Given the description of an element on the screen output the (x, y) to click on. 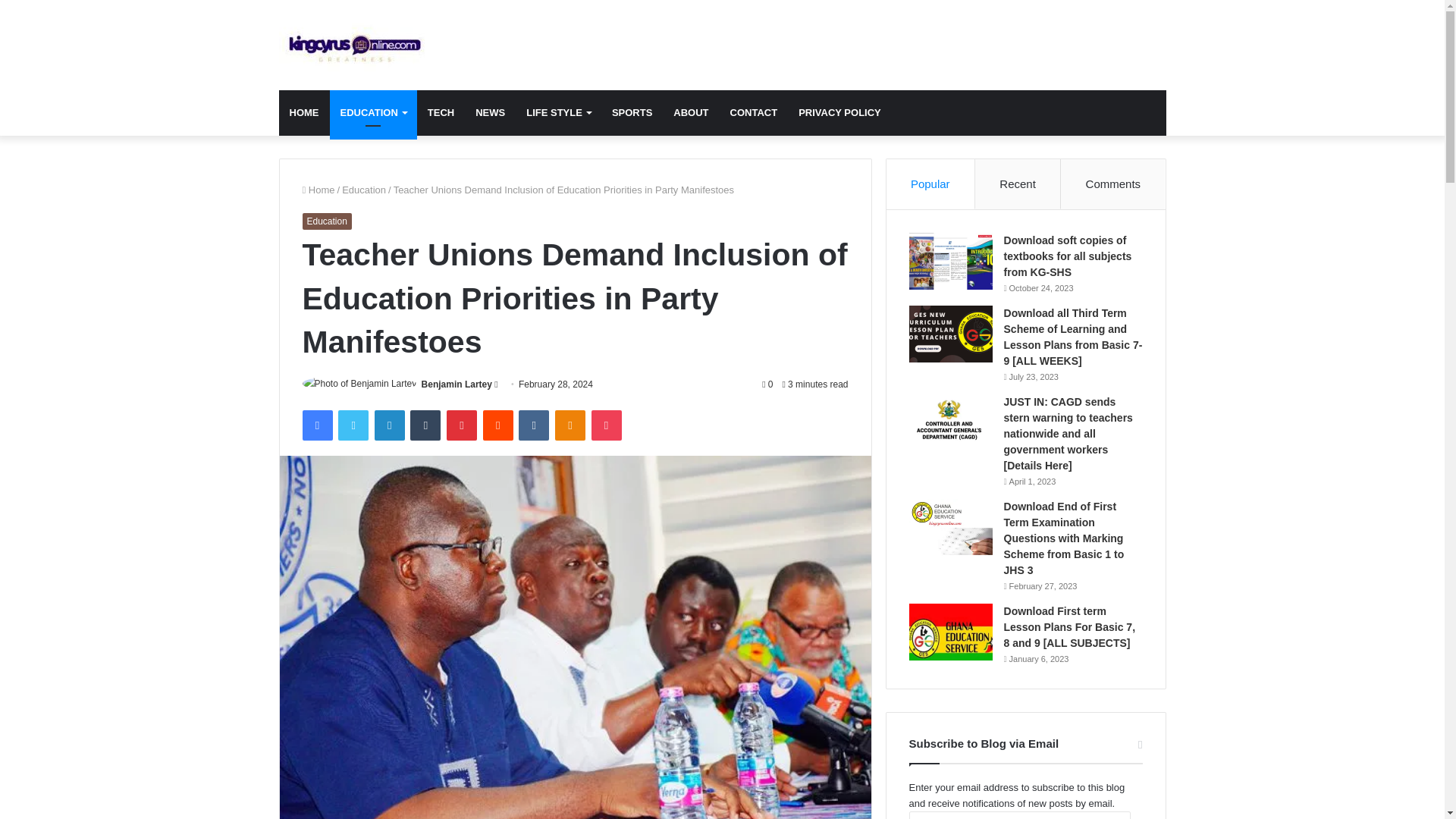
Benjamin Lartey (457, 384)
Tumblr (425, 425)
Education (325, 221)
SPORTS (631, 112)
VKontakte (533, 425)
LinkedIn (389, 425)
LIFE STYLE (558, 112)
Education (363, 189)
HOME (304, 112)
kingcyrusonline (354, 45)
Tumblr (425, 425)
Facebook (316, 425)
Pocket (606, 425)
CONTACT (754, 112)
LinkedIn (389, 425)
